Given the description of an element on the screen output the (x, y) to click on. 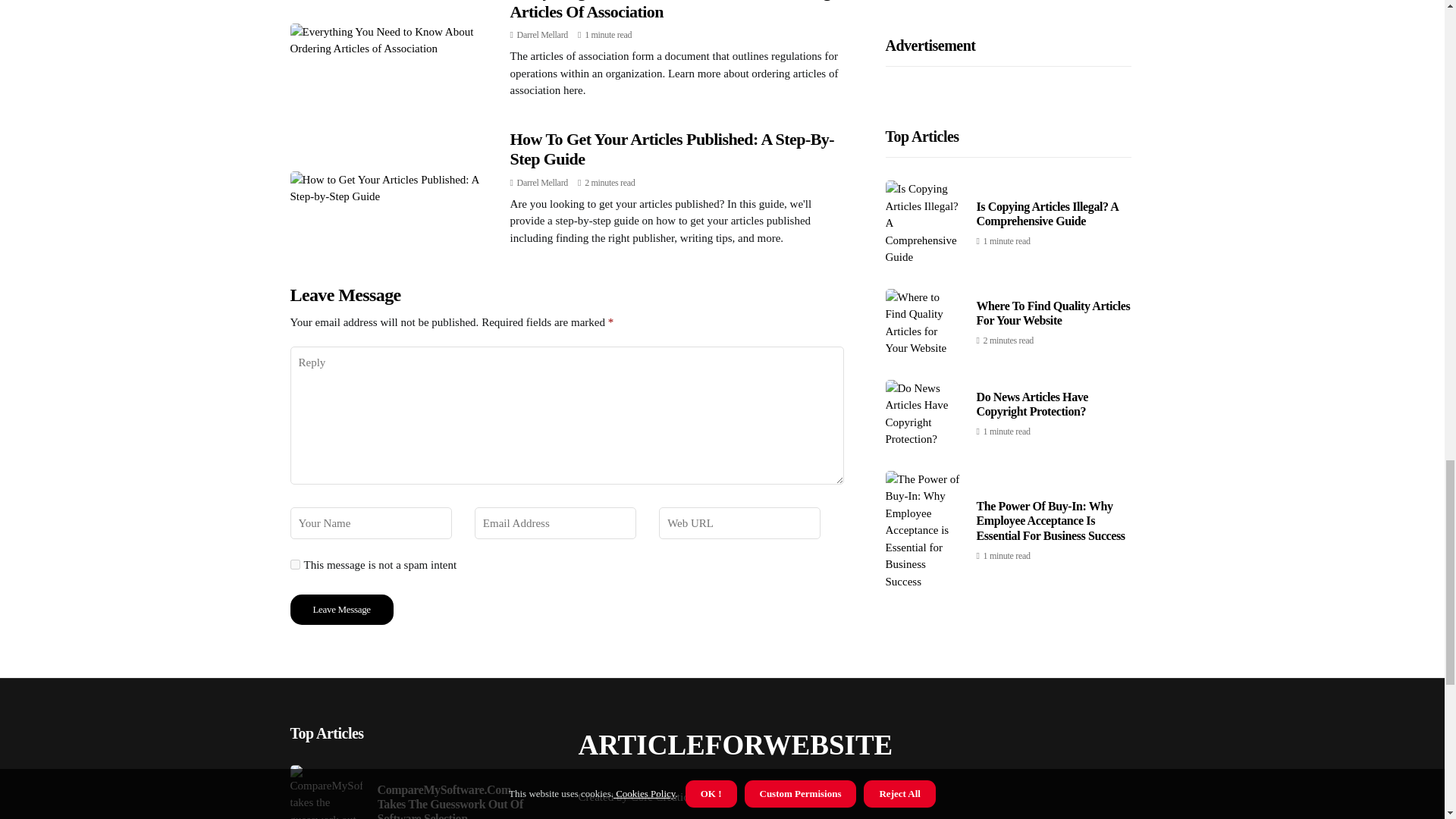
Posts by Darrel Mellard (541, 34)
yes (294, 564)
How To Get Your Articles Published: A Step-By-Step Guide (671, 148)
Darrel Mellard (541, 182)
Leave Message (341, 609)
Leave Message (341, 609)
Posts by Darrel Mellard (541, 182)
Darrel Mellard (541, 34)
